Given the description of an element on the screen output the (x, y) to click on. 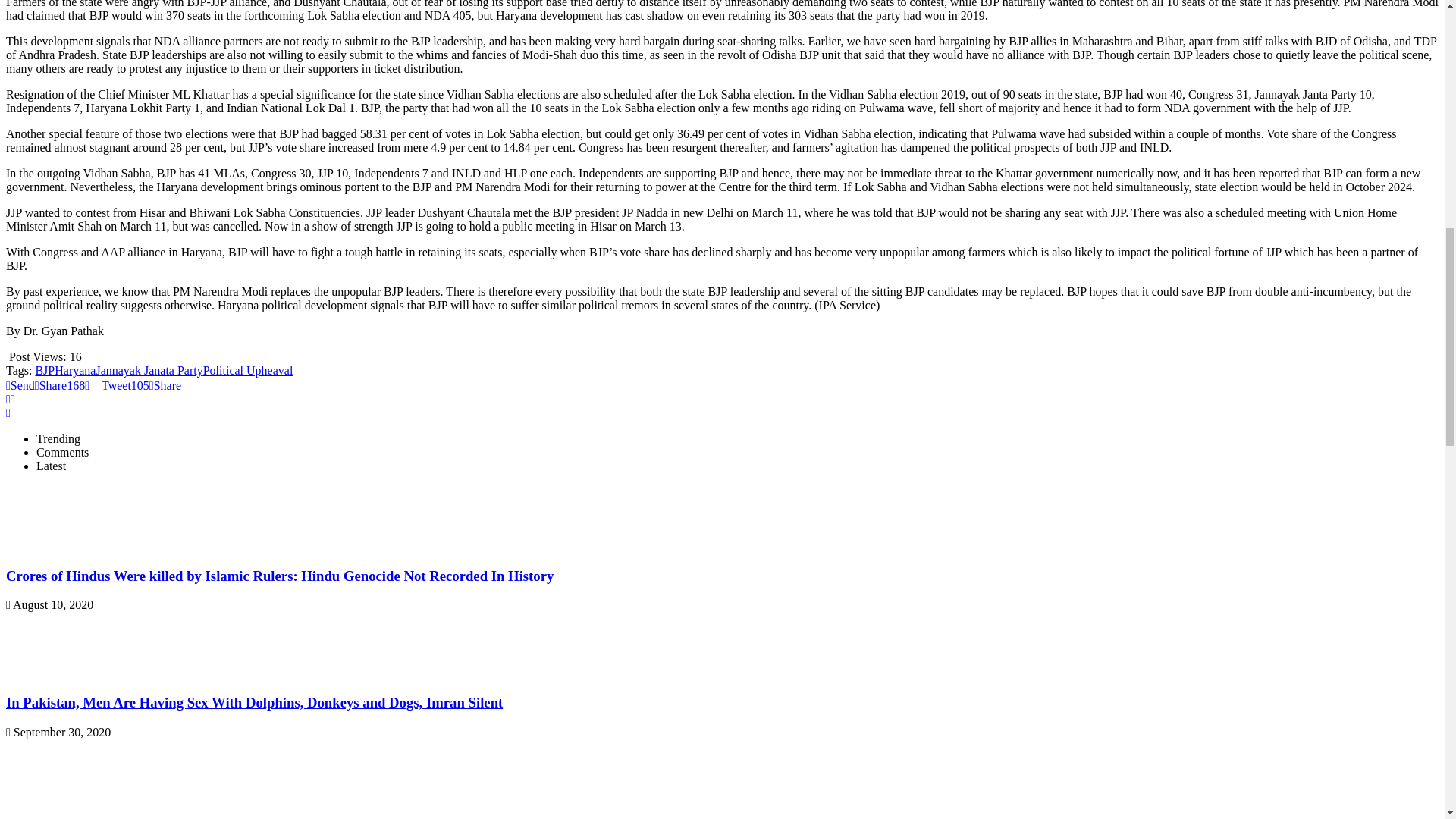
Share (164, 385)
Send (19, 385)
Share168 (59, 385)
Political Upheaval (248, 369)
Jannayak Janata Party (149, 369)
Haryana (75, 369)
BJP (44, 369)
Tweet105 (116, 385)
